Given the description of an element on the screen output the (x, y) to click on. 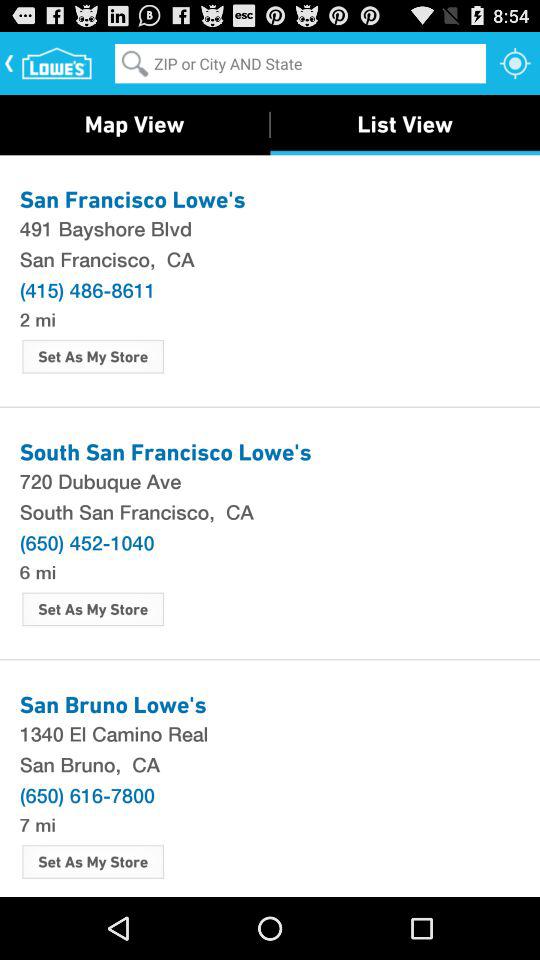
select the icon below the south san francisco item (86, 541)
